Given the description of an element on the screen output the (x, y) to click on. 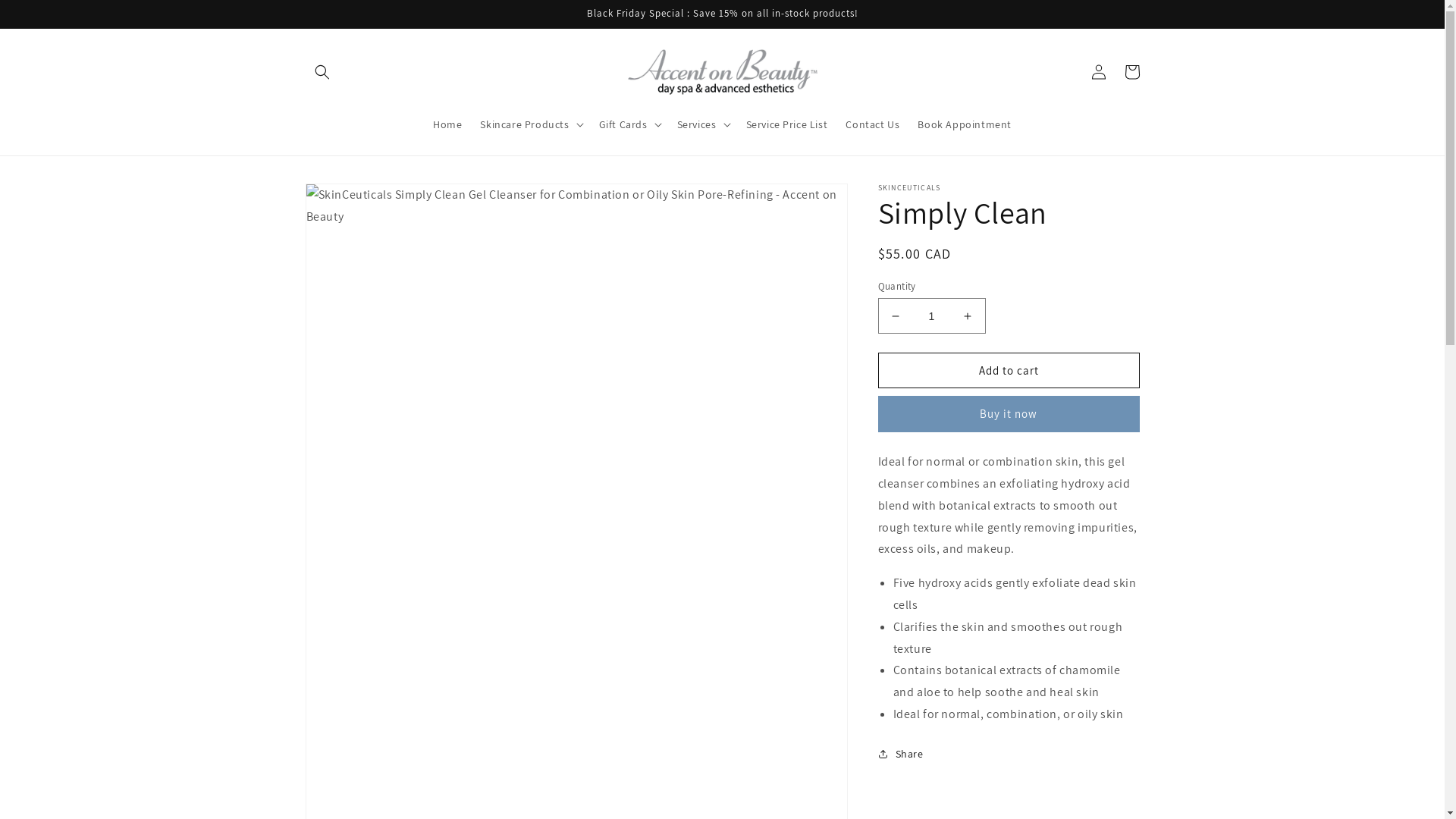
Cart Element type: text (1131, 71)
Log in Element type: text (1097, 71)
widget_xcomponent Element type: hover (722, 11)
Increase quantity for Simply Clean Element type: text (967, 315)
Skip to product information Element type: text (350, 200)
Contact Us Element type: text (872, 124)
Add to cart Element type: text (1008, 370)
Service Price List Element type: text (787, 124)
Decrease quantity for Simply Clean Element type: text (895, 315)
Buy it now Element type: text (1008, 413)
Home Element type: text (446, 124)
Book Appointment Element type: text (964, 124)
